Given the description of an element on the screen output the (x, y) to click on. 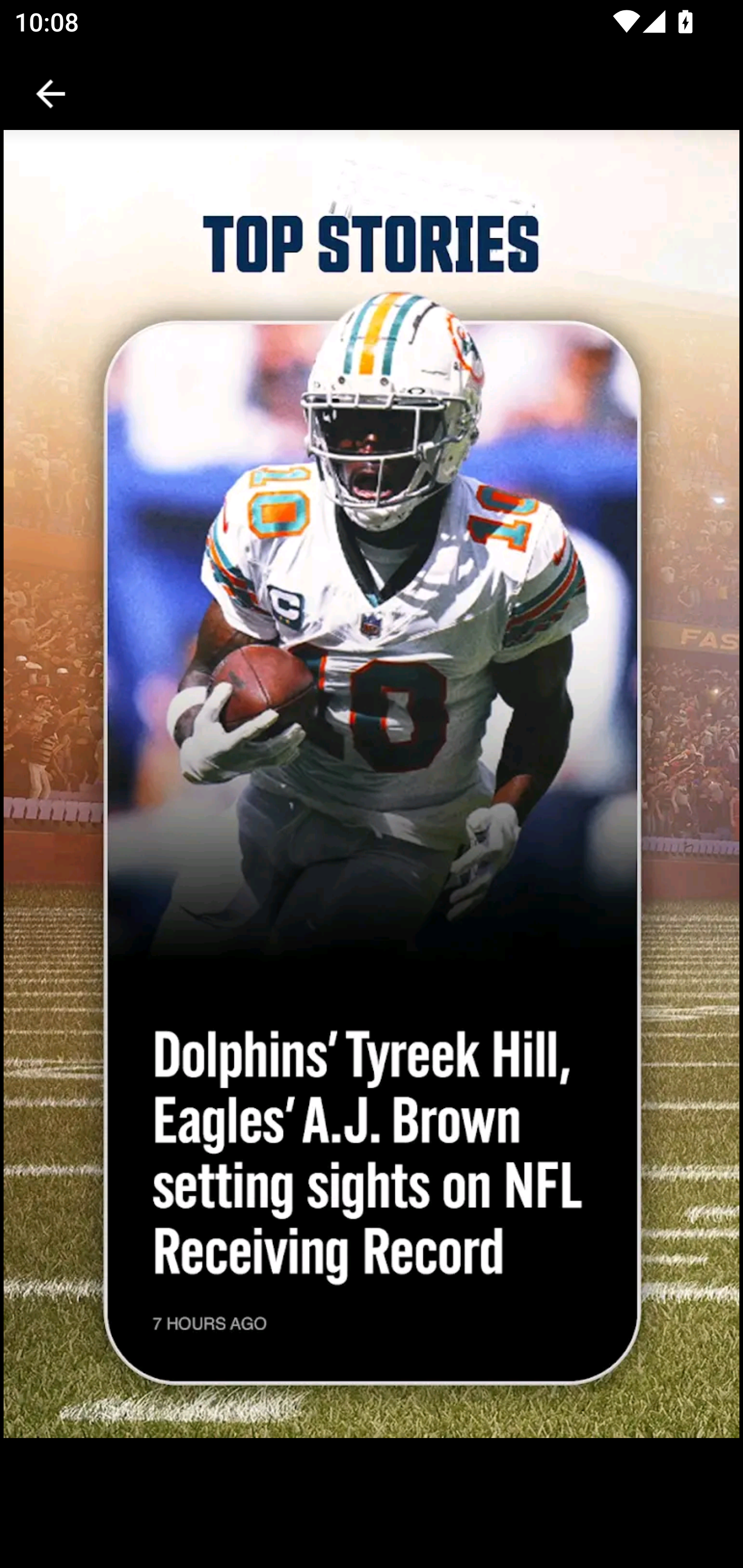
Back (50, 93)
